Given the description of an element on the screen output the (x, y) to click on. 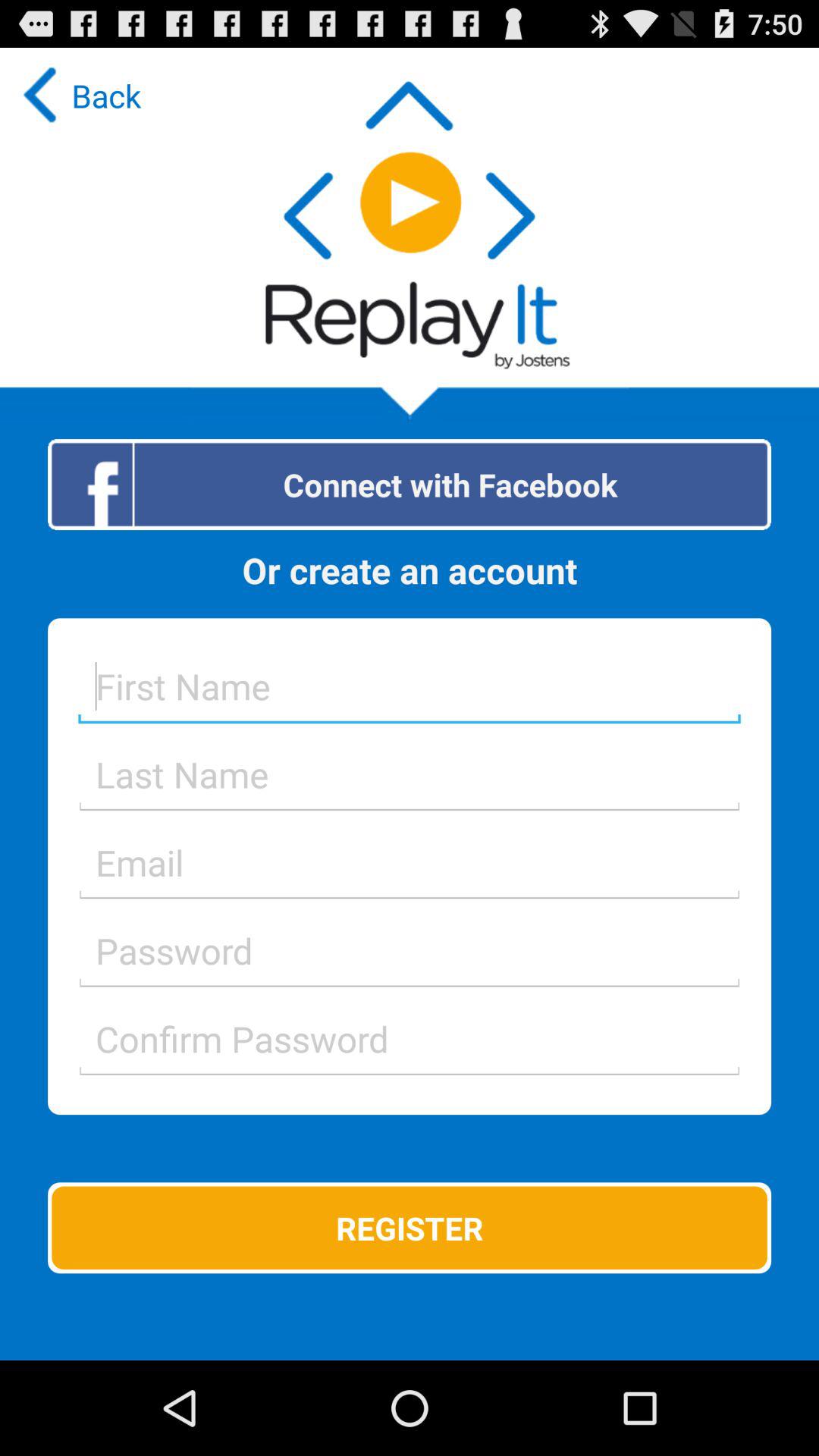
enter password (409, 1038)
